Given the description of an element on the screen output the (x, y) to click on. 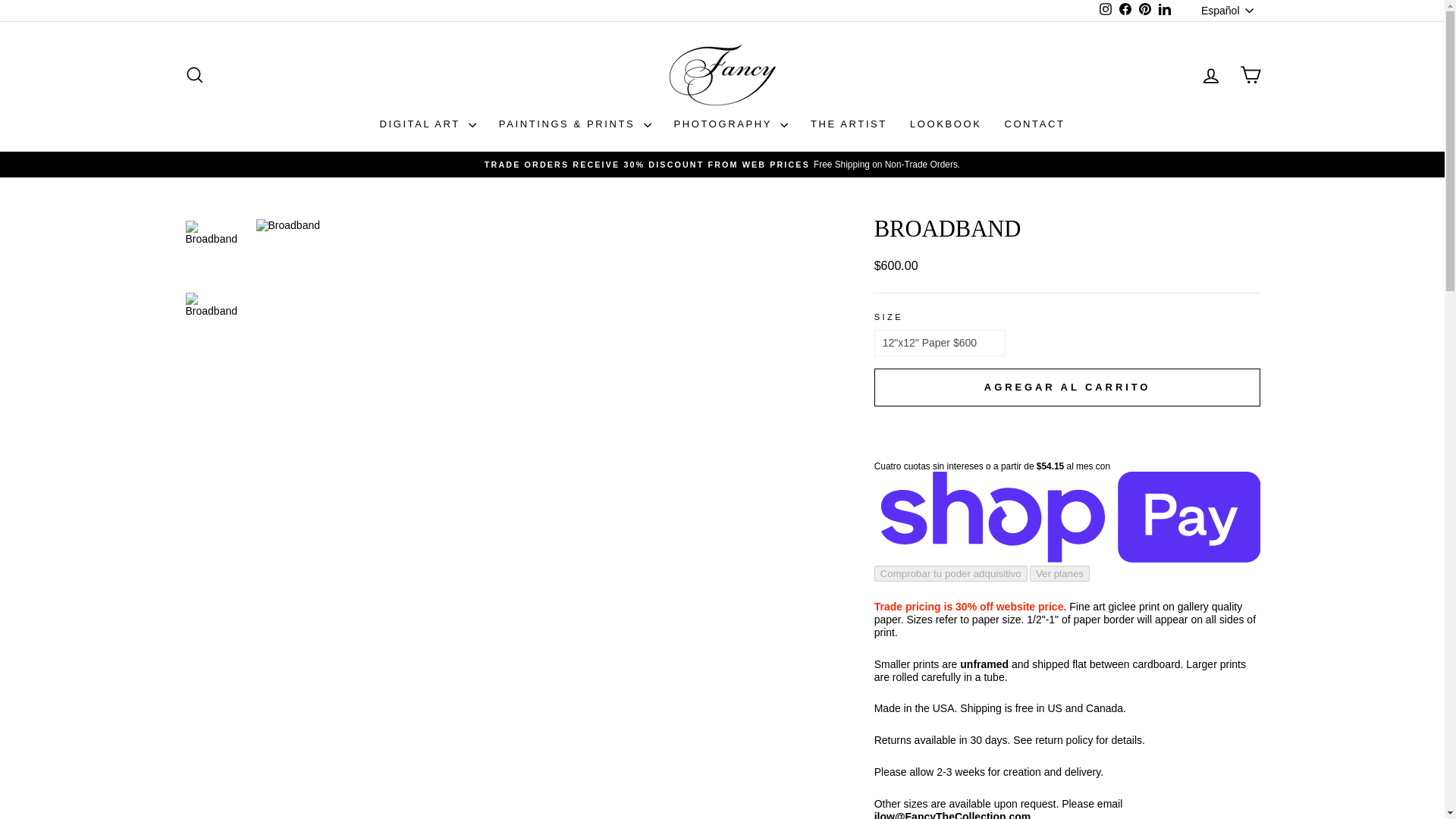
Fancy The Collection en Pinterest (1144, 10)
ACCOUNT (1210, 75)
Pinterest (1144, 10)
Facebook (1105, 10)
Fancy The Collection en Facebook (1125, 10)
Fancy The Collection en Instagram (1125, 10)
instagram (1210, 74)
Fancy The Collection en LinkedIn (1105, 10)
